Given the description of an element on the screen output the (x, y) to click on. 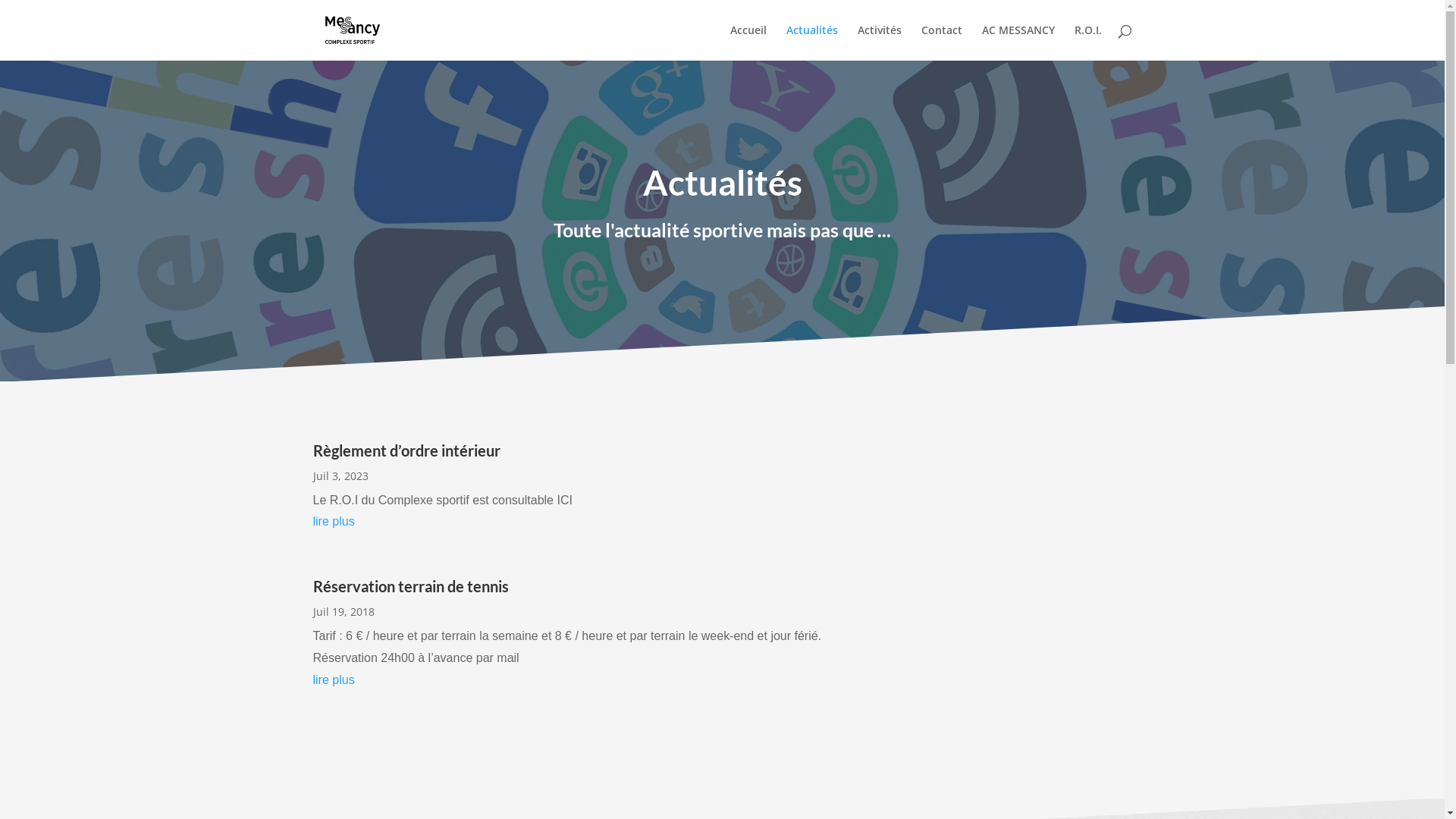
R.O.I. Element type: text (1087, 42)
lire plus Element type: text (577, 680)
lire plus Element type: text (577, 522)
Accueil Element type: text (747, 42)
AC MESSANCY Element type: text (1017, 42)
Contact Element type: text (940, 42)
